Given the description of an element on the screen output the (x, y) to click on. 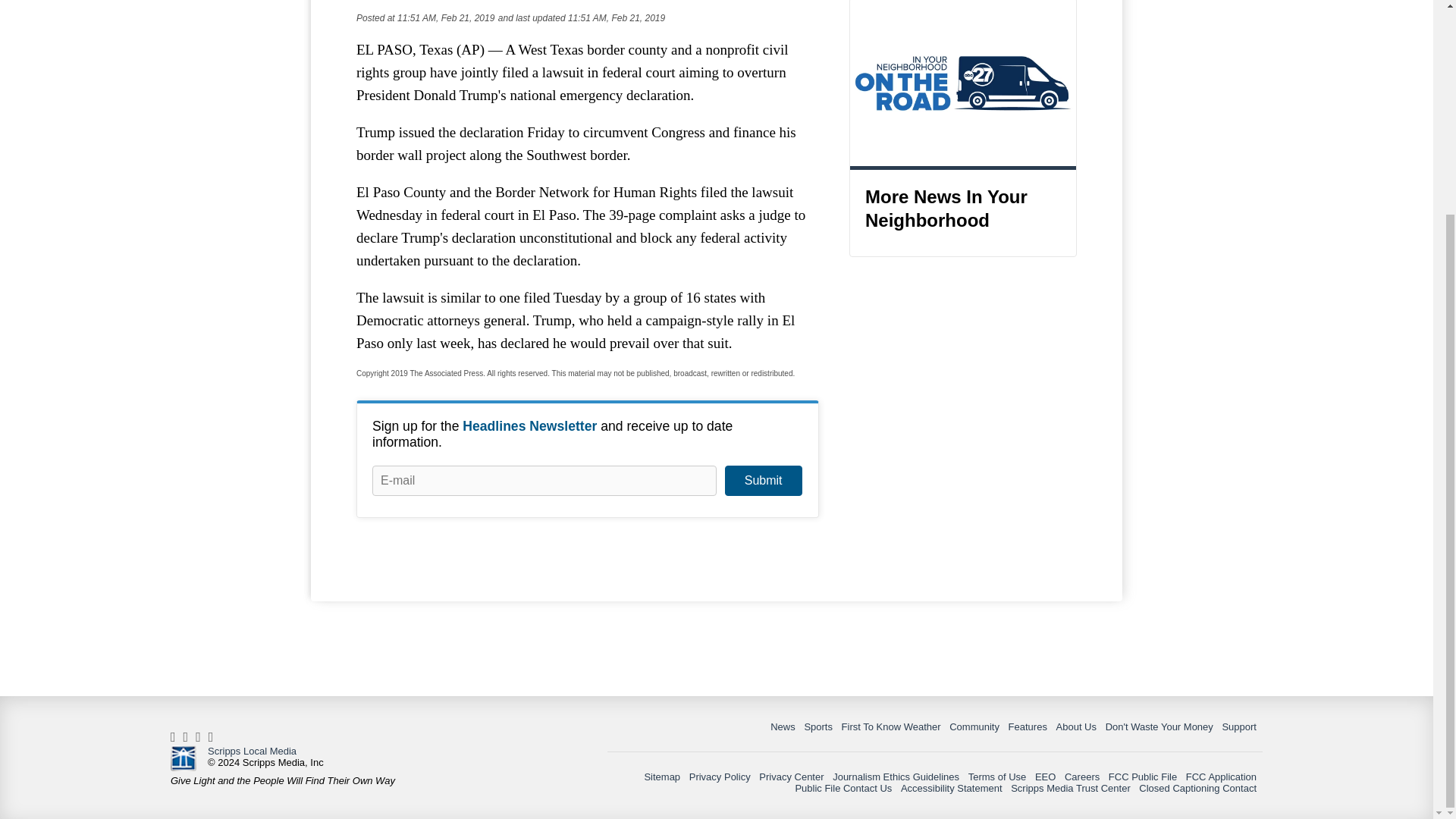
Submit (763, 481)
